Given the description of an element on the screen output the (x, y) to click on. 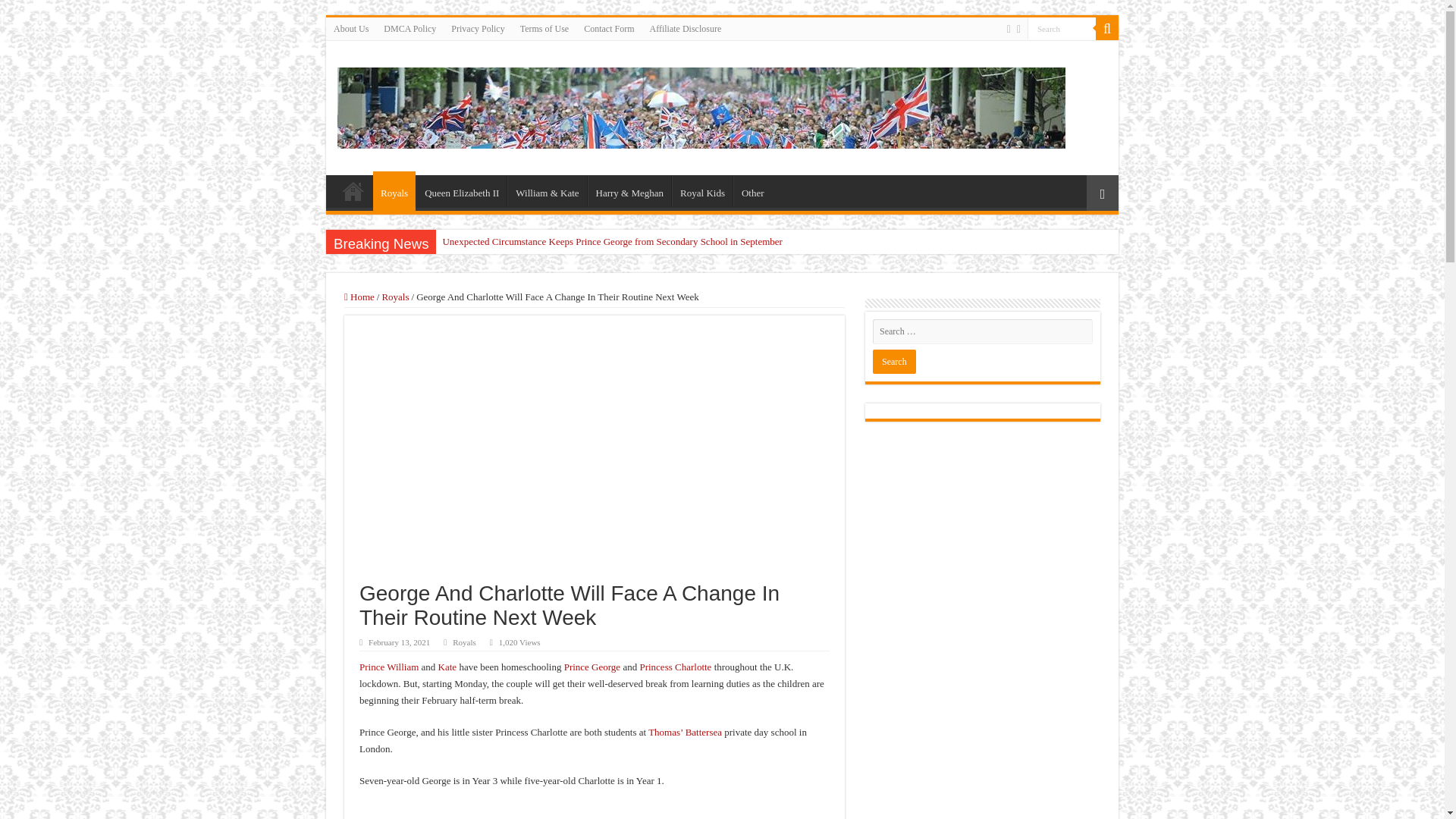
Random Article (1102, 192)
Other (752, 191)
Search (1061, 28)
Royals (395, 296)
Privacy Policy (478, 28)
Home (352, 191)
Contact Form (609, 28)
Home (358, 296)
Affiliate Disclosure (685, 28)
Prince William (389, 666)
Search (1061, 28)
Royal Kids (701, 191)
Royals (393, 190)
